Given the description of an element on the screen output the (x, y) to click on. 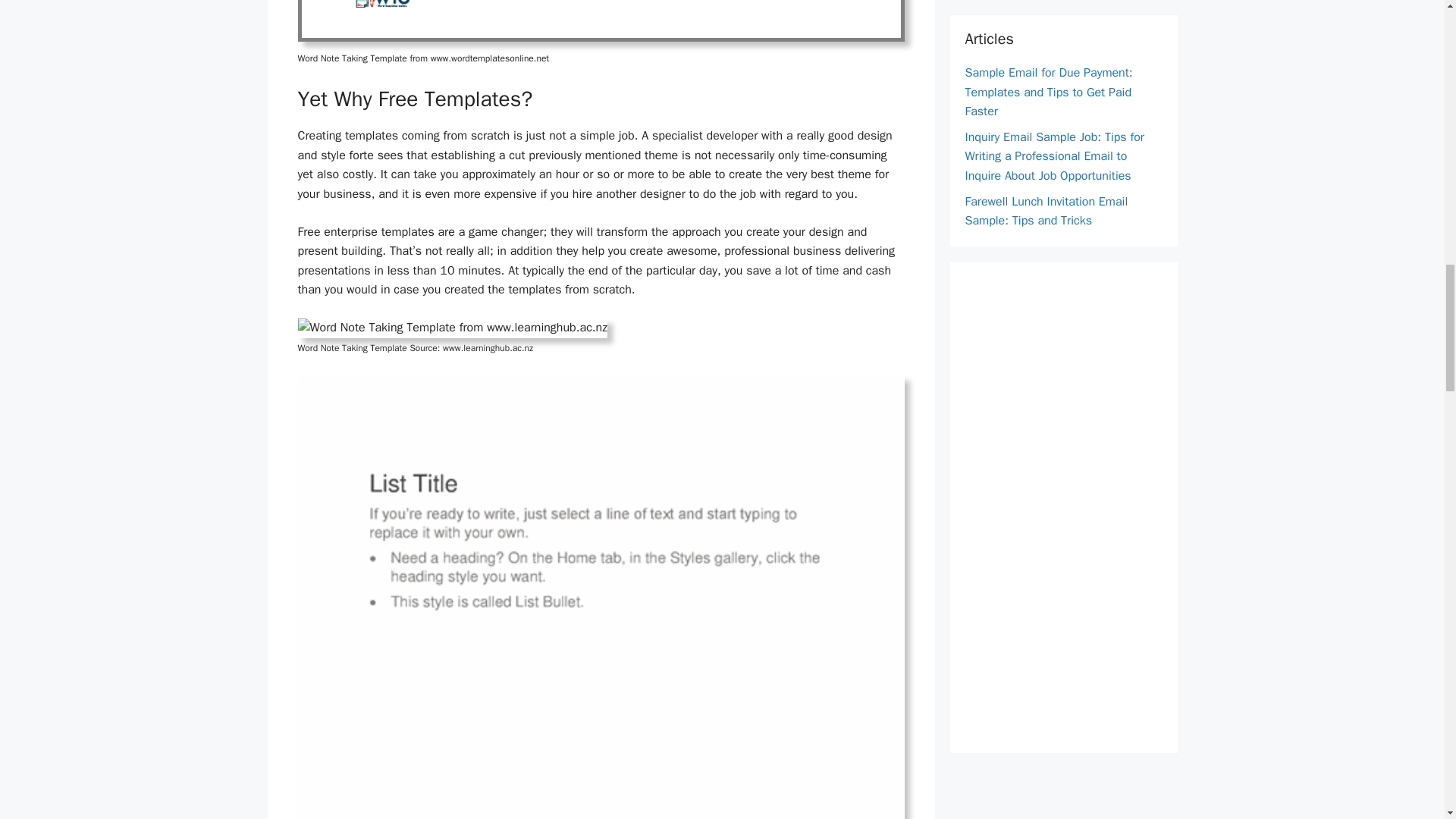
Word Note Taking Template Collection 2 (452, 328)
Word Note Taking Template Collection 1 (600, 20)
